Given the description of an element on the screen output the (x, y) to click on. 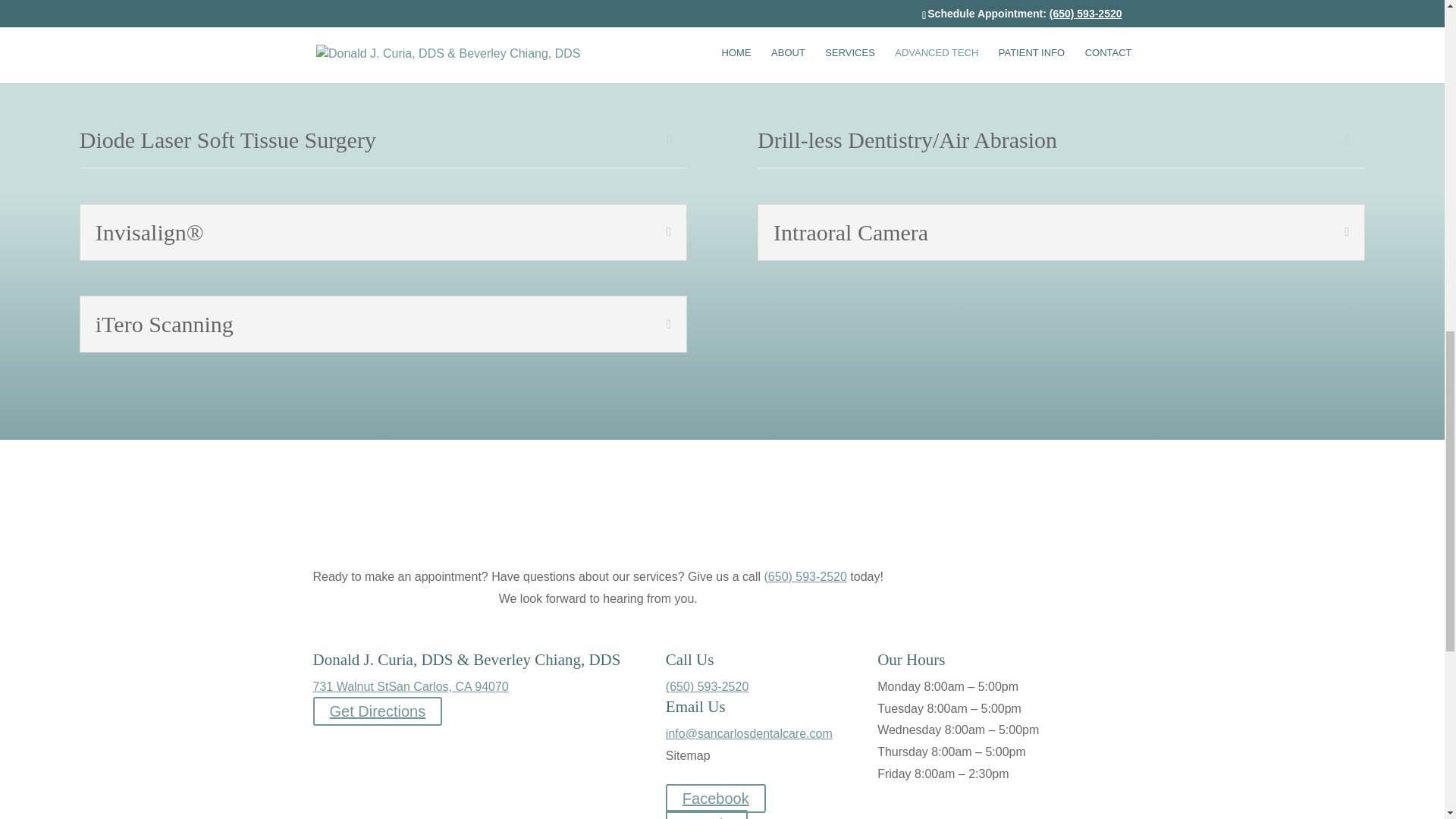
Facebook (715, 798)
Google (706, 814)
731 Walnut StSan Carlos, CA 94070 (410, 686)
Get Directions (377, 710)
